Given the description of an element on the screen output the (x, y) to click on. 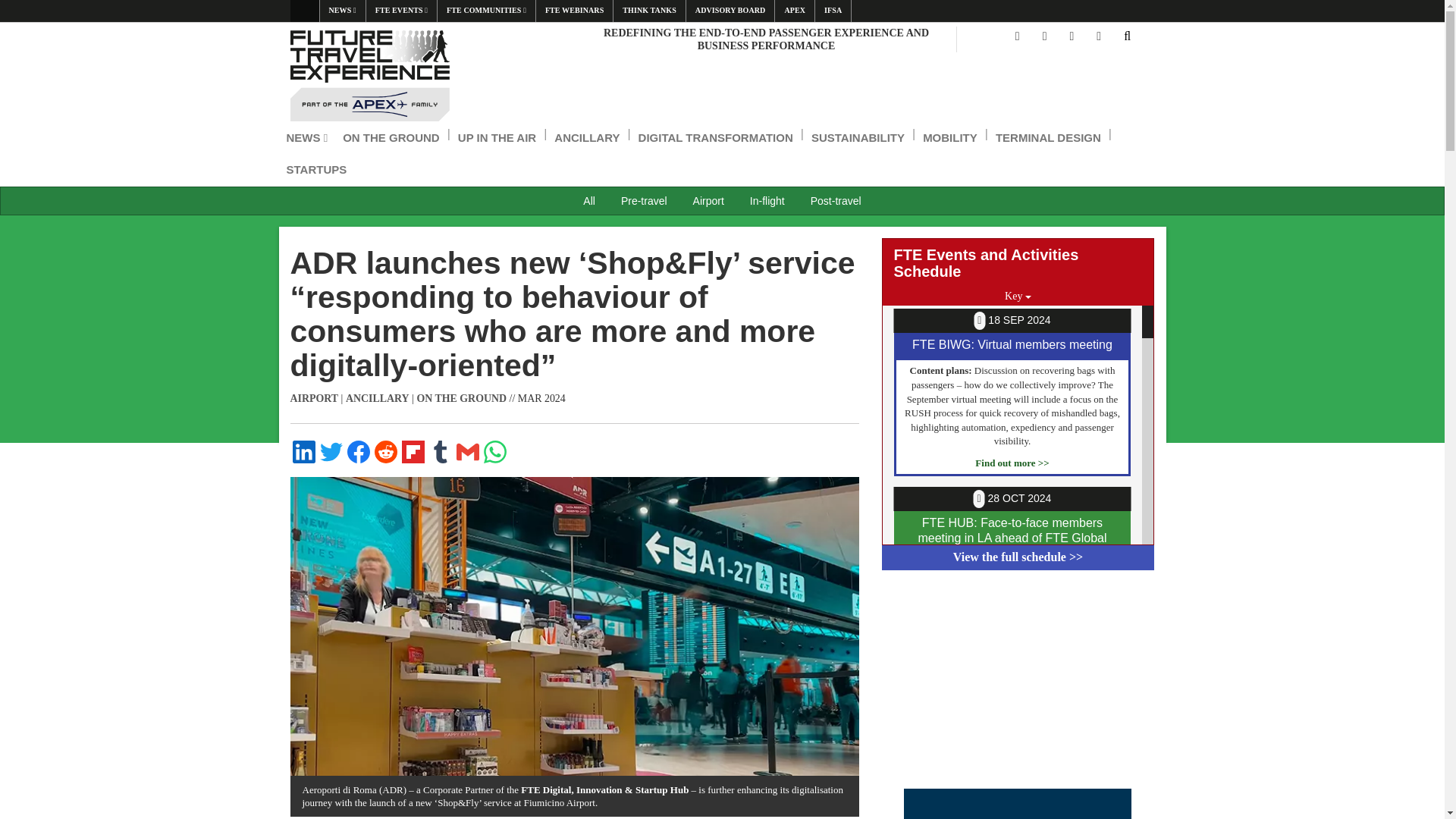
IFSA (832, 11)
ADVISORY BOARD (729, 11)
THINK TANKS (648, 11)
NEWS (342, 11)
FTE COMMUNITIES (486, 11)
FTE EVENTS (401, 11)
FTE WEBINARS (573, 11)
APEX (793, 11)
